Given the description of an element on the screen output the (x, y) to click on. 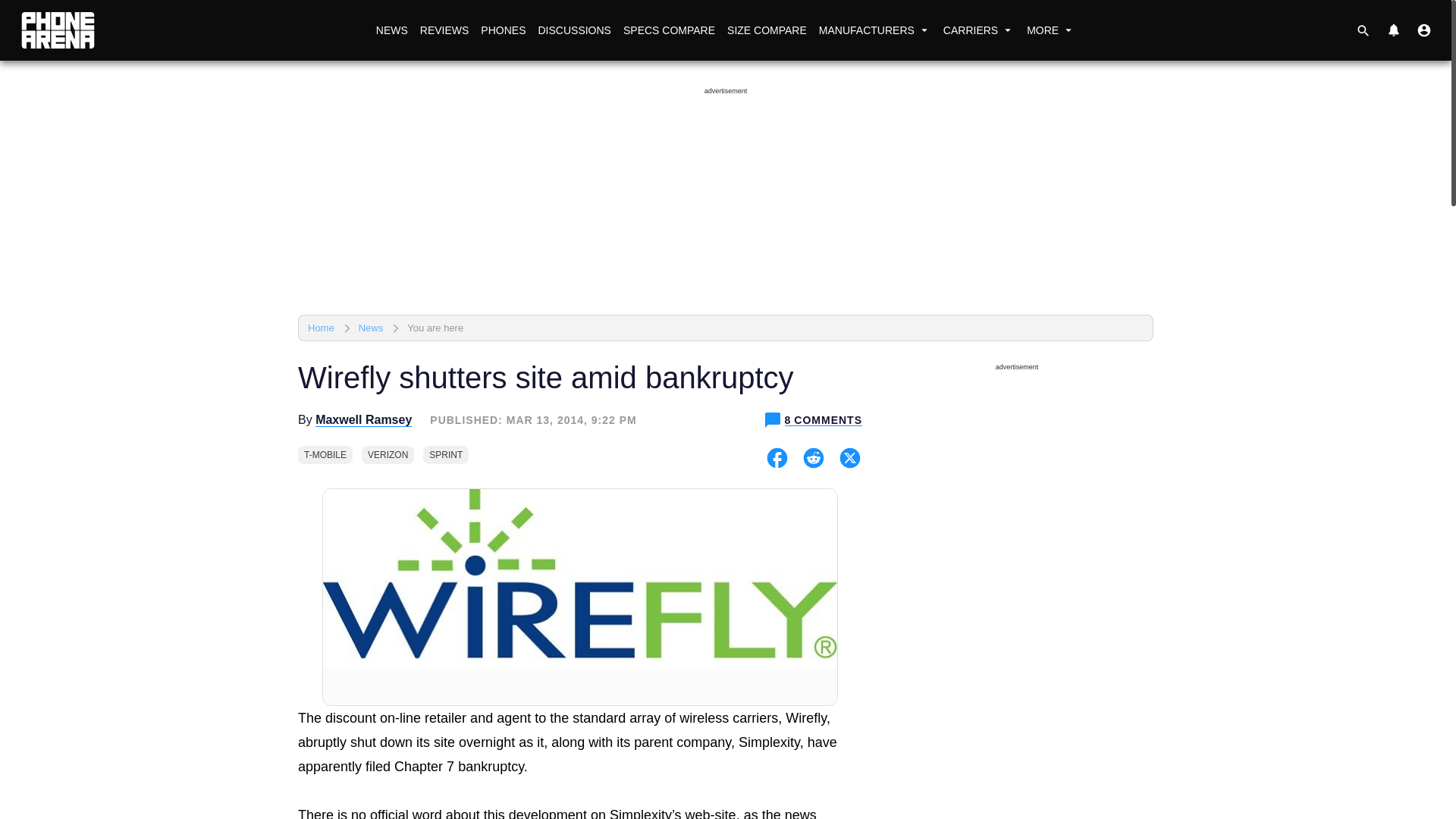
NEWS (391, 30)
MORE (1050, 30)
PHONES (502, 30)
SPECS COMPARE (668, 30)
REVIEWS (444, 30)
CARRIERS (978, 30)
MANUFACTURERS (874, 30)
DISCUSSIONS (573, 30)
SIZE COMPARE (766, 30)
